Given the description of an element on the screen output the (x, y) to click on. 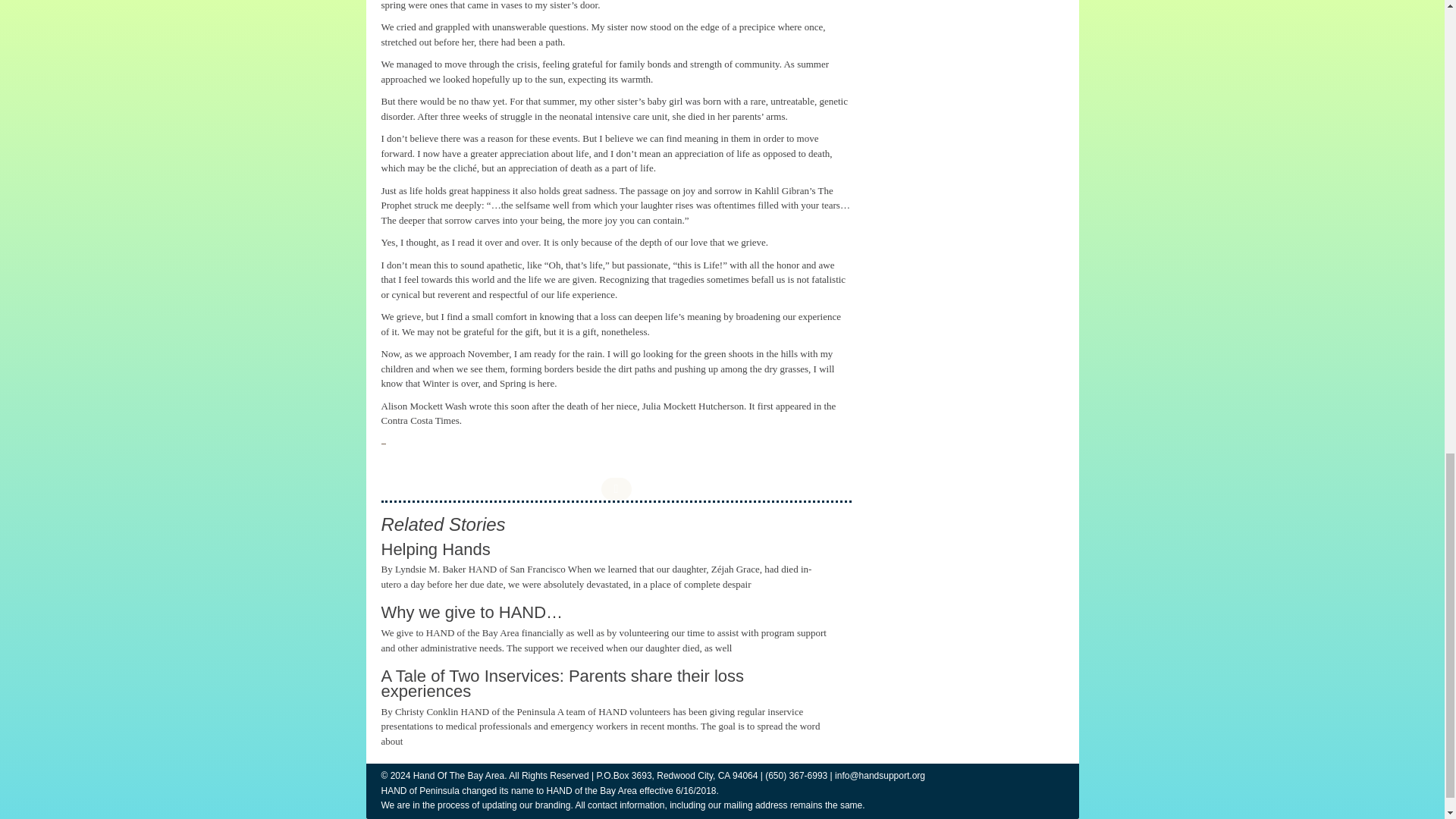
Helping Hands (434, 548)
Helping Hands (434, 548)
